Given the description of an element on the screen output the (x, y) to click on. 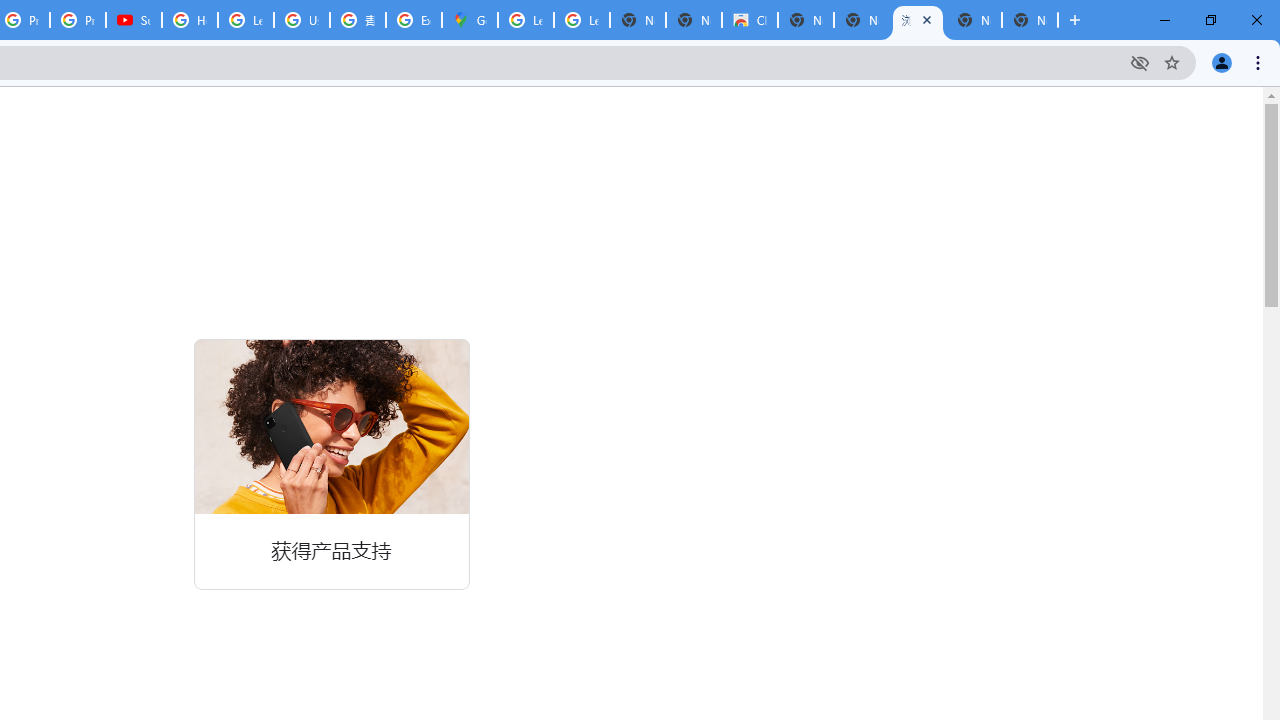
Chrome Web Store (749, 20)
New Tab (1030, 20)
